Given the description of an element on the screen output the (x, y) to click on. 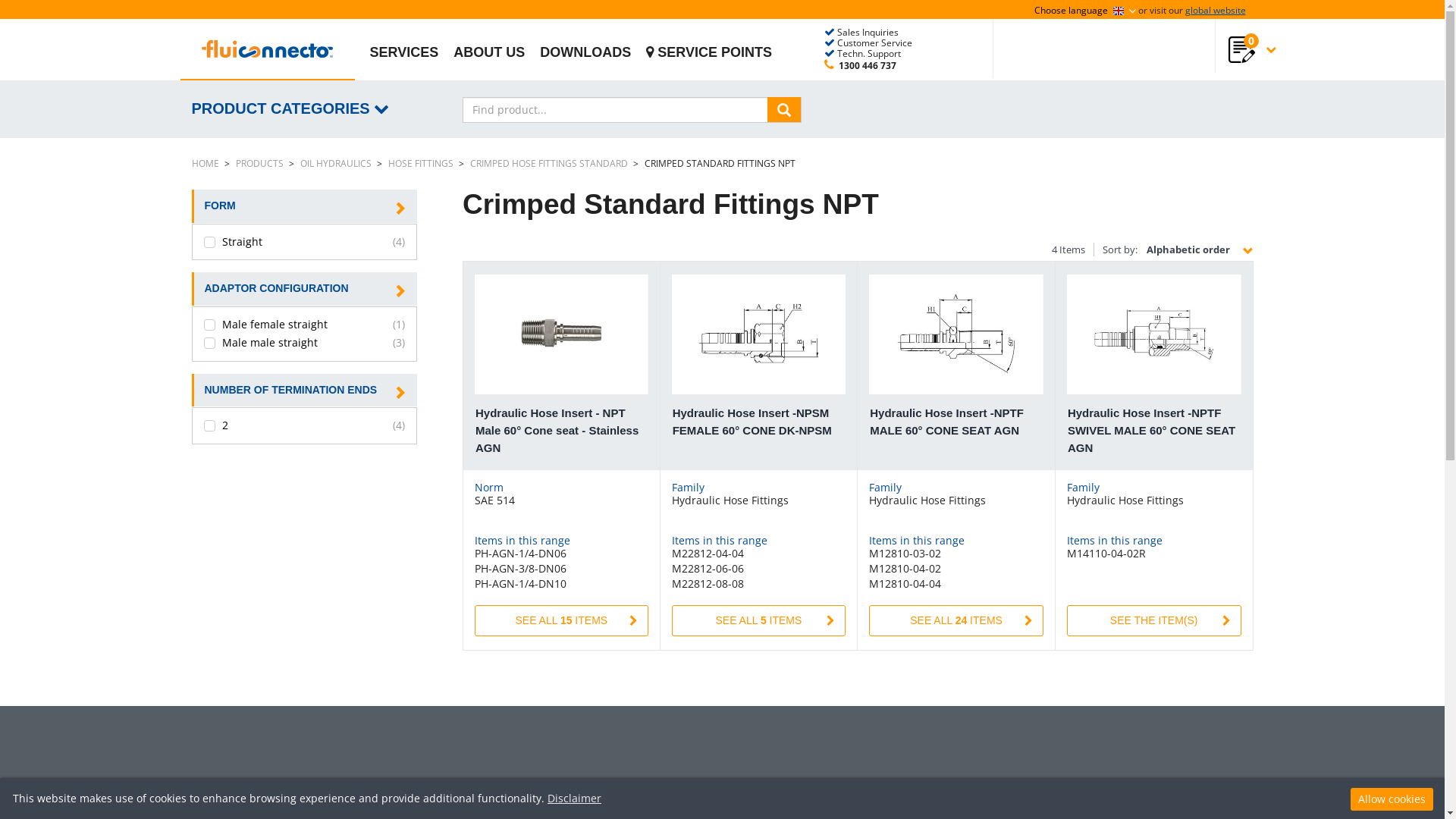
Male male straight Element type: text (285, 342)
Start search. Element type: hover (783, 109)
PRODUCTS Element type: text (258, 162)
HOSE FITTINGS Element type: text (420, 162)
2 Element type: text (285, 425)
Disclaimer Element type: text (574, 797)
SERVICE POINTS Element type: text (708, 52)
home Element type: hover (267, 55)
SEE ALL 15 ITEMS Element type: text (561, 620)
Male female straight Element type: text (285, 324)
Choose language  Element type: text (1086, 9)
SERVICES Element type: text (404, 52)
ABOUT US Element type: text (488, 52)
OIL HYDRAULICS Element type: text (335, 162)
SEE ALL 5 ITEMS Element type: text (758, 620)
0 Element type: text (1233, 58)
global website Element type: text (1214, 9)
SEE ALL 24 ITEMS Element type: text (956, 620)
CRIMPED HOSE FITTINGS STANDARD Element type: text (548, 162)
HOME Element type: text (204, 162)
DOWNLOADS Element type: text (584, 52)
SEE THE ITEM(S) Element type: text (1153, 620)
Straight Element type: text (285, 241)
PRODUCT CATEGORIES Element type: text (295, 112)
